Given the description of an element on the screen output the (x, y) to click on. 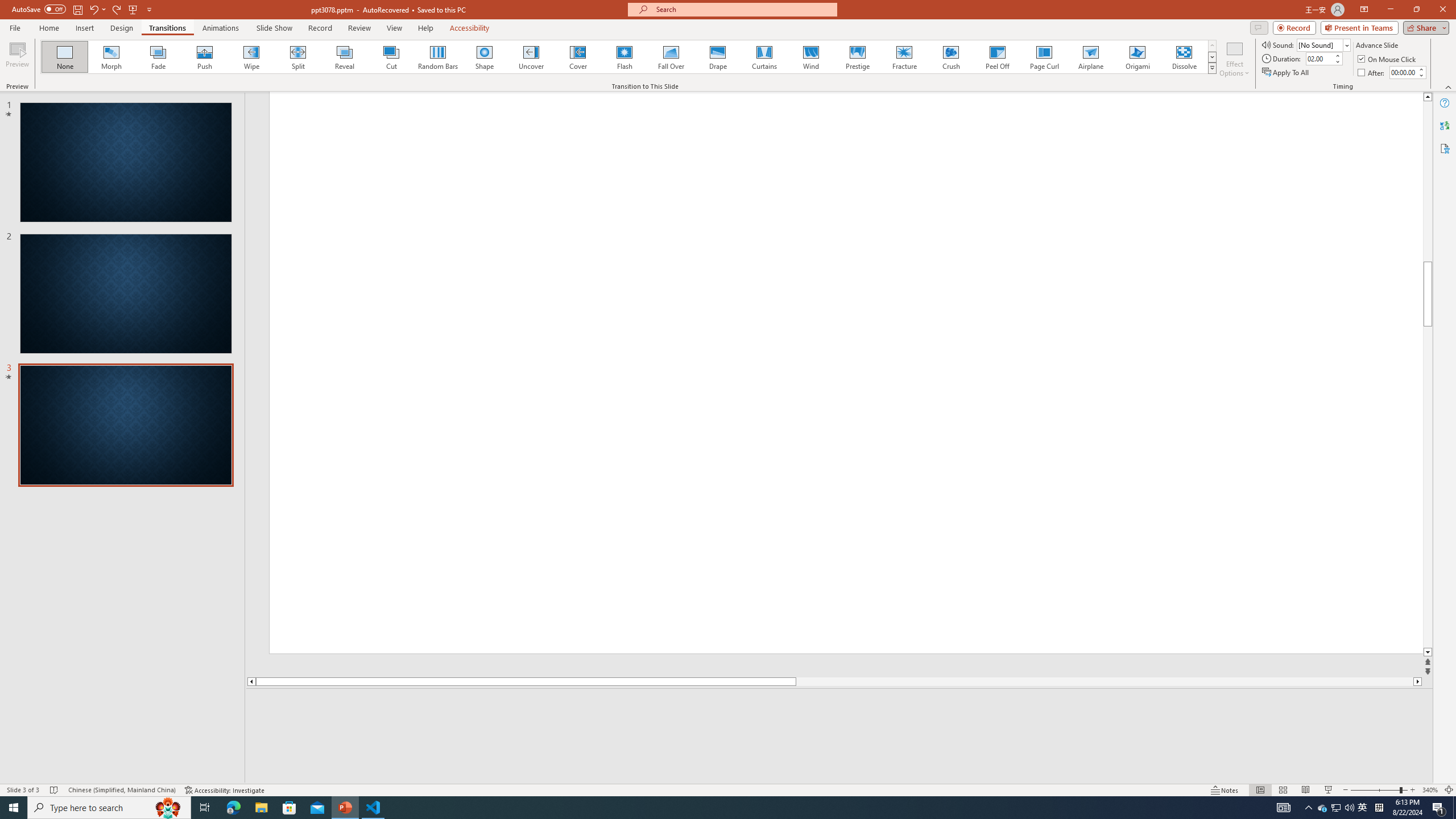
Reveal (344, 56)
Fall Over (670, 56)
